Given the description of an element on the screen output the (x, y) to click on. 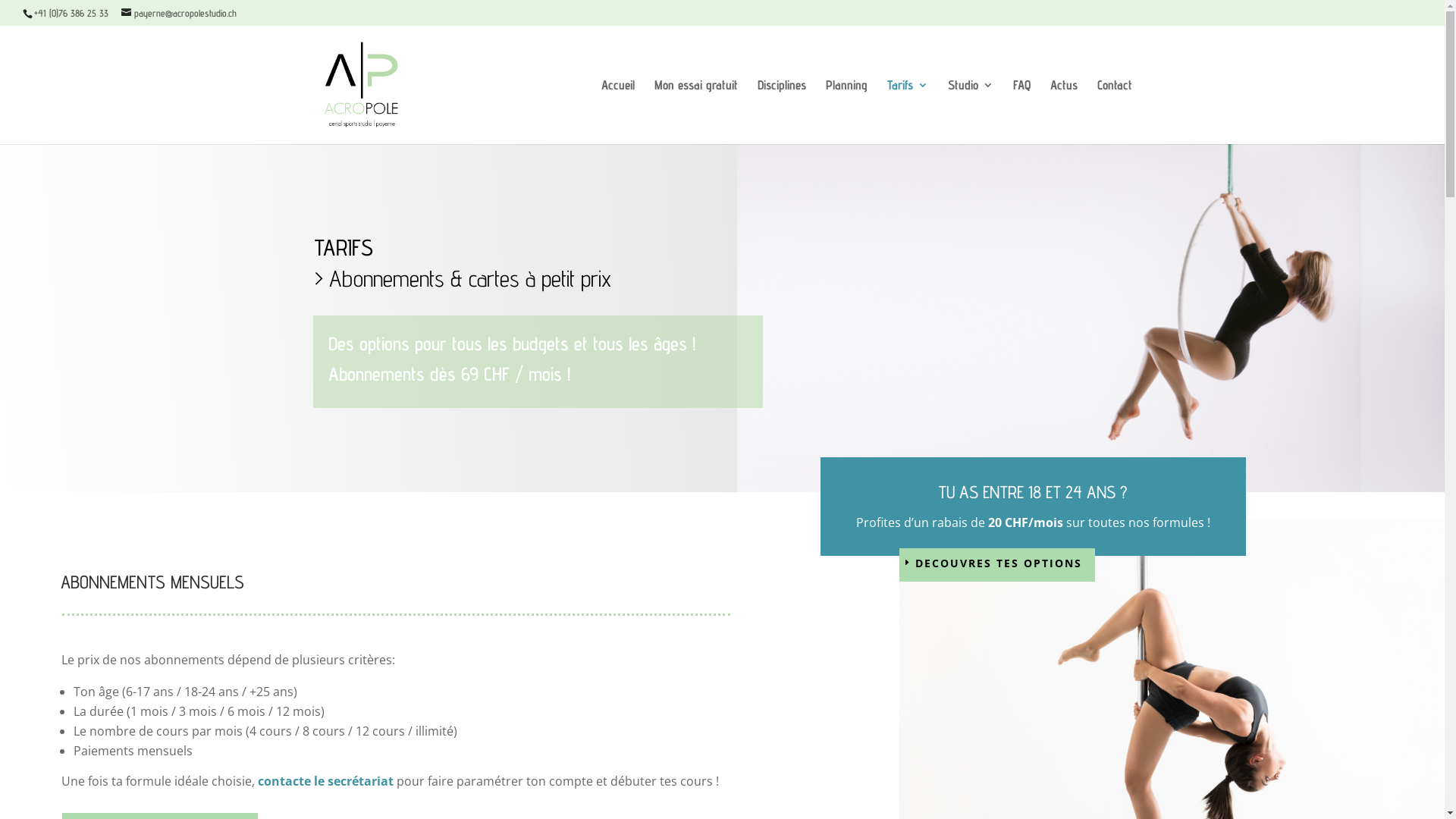
Mon essai gratuit Element type: text (695, 110)
Tarifs Element type: text (907, 110)
DECOUVRES TES OPTIONS Element type: text (997, 564)
Planning Element type: text (845, 110)
payerne@acropolestudio.ch Element type: text (178, 12)
Studio Element type: text (970, 110)
Contact Element type: text (1113, 110)
Actus Element type: text (1062, 110)
Accueil Element type: text (616, 110)
Disciplines Element type: text (780, 110)
FAQ Element type: text (1021, 110)
